Given the description of an element on the screen output the (x, y) to click on. 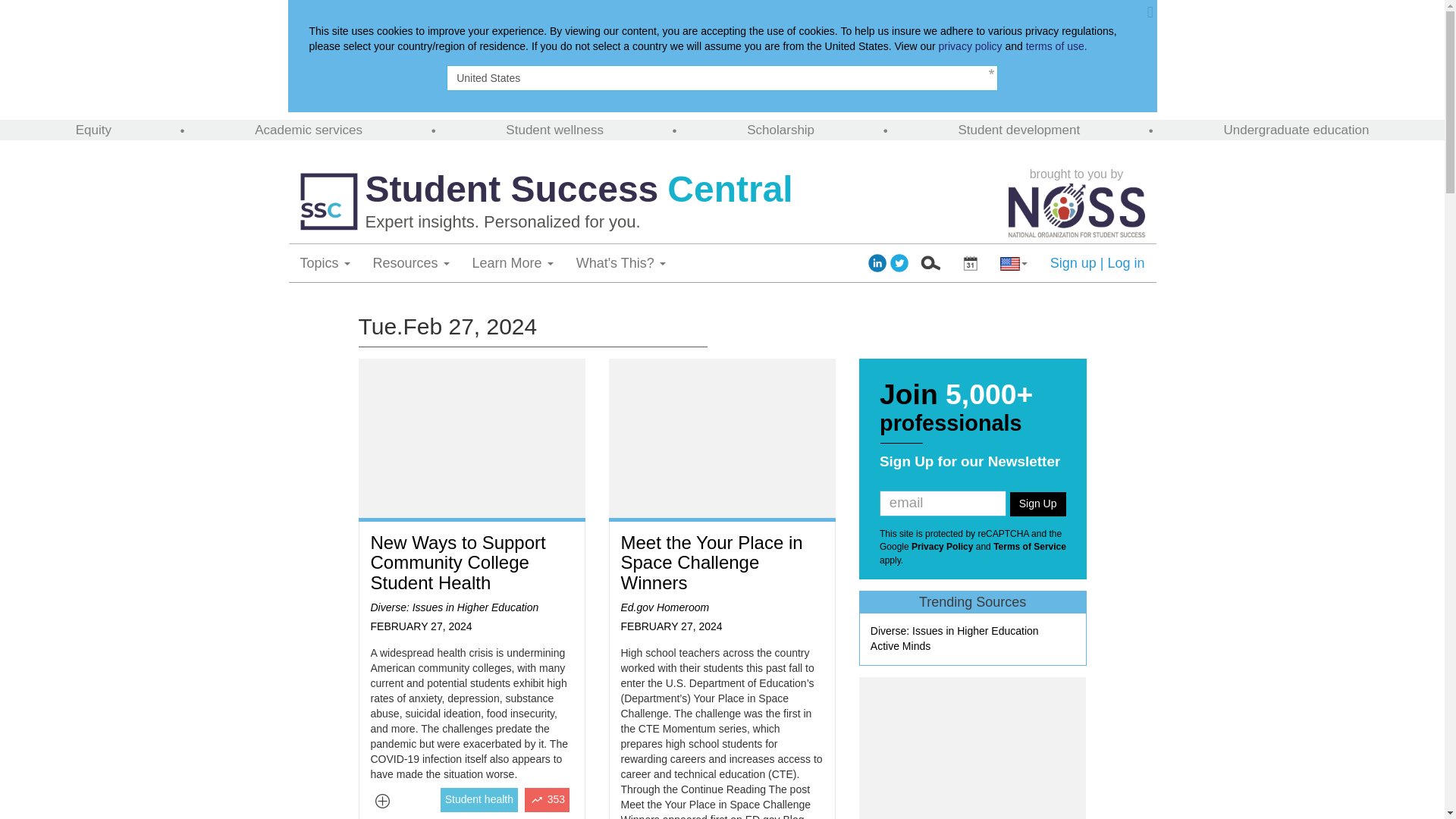
Undergraduate education (1295, 129)
NOSS - The National Organization for Student Success (1076, 209)
Select your country (1013, 262)
United States (721, 77)
Search (930, 262)
privacy policy (971, 46)
Equity (93, 129)
Scholarship (779, 129)
Academic services (308, 129)
Student wellness (554, 129)
